Given the description of an element on the screen output the (x, y) to click on. 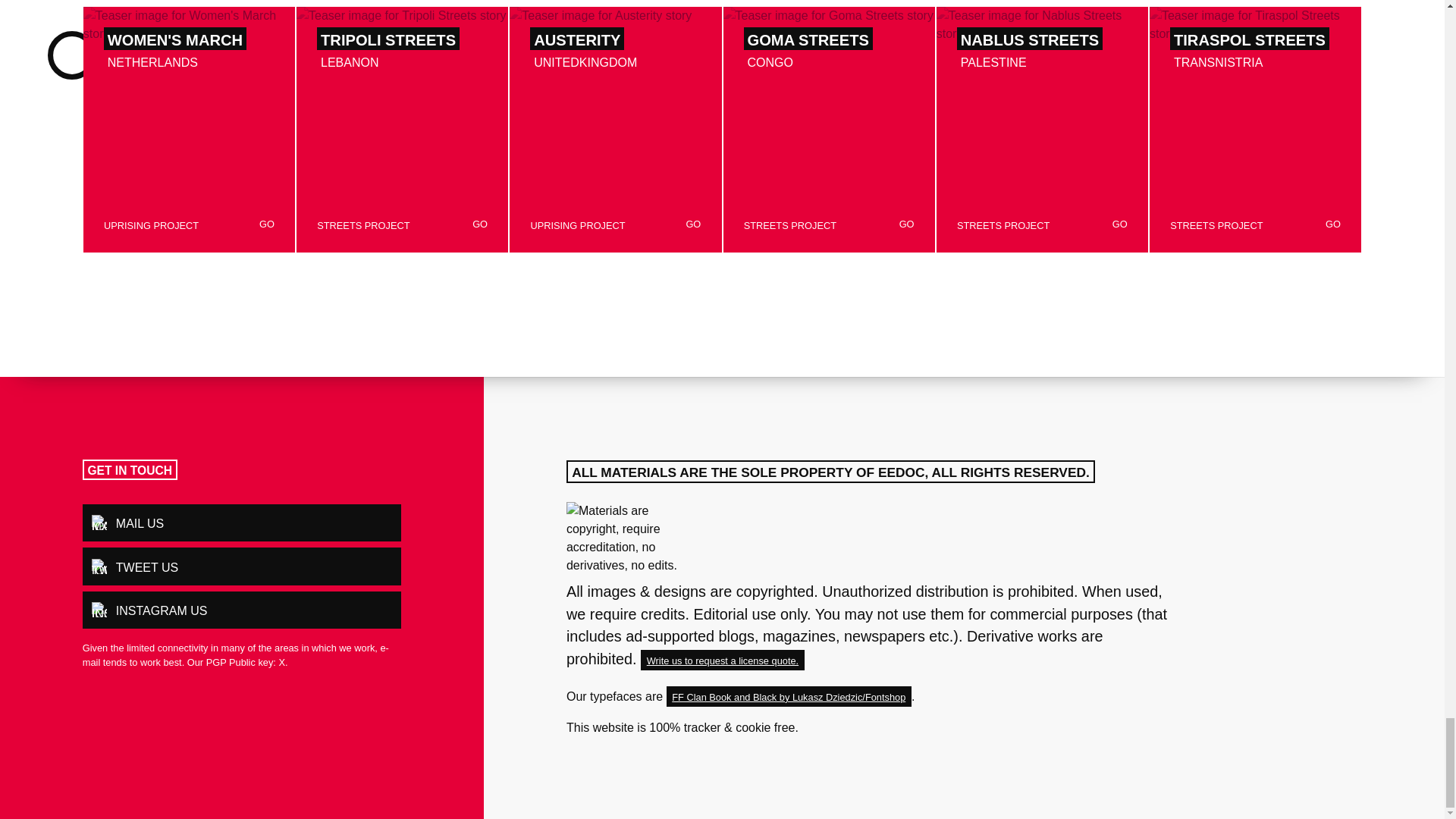
Write us to request a license quote. (722, 660)
TWEET US (241, 566)
MAIL US (241, 523)
Go to Fontshop (788, 696)
INSTAGRAM US (241, 610)
E-mail us to inquire about a license (722, 660)
